Given the description of an element on the screen output the (x, y) to click on. 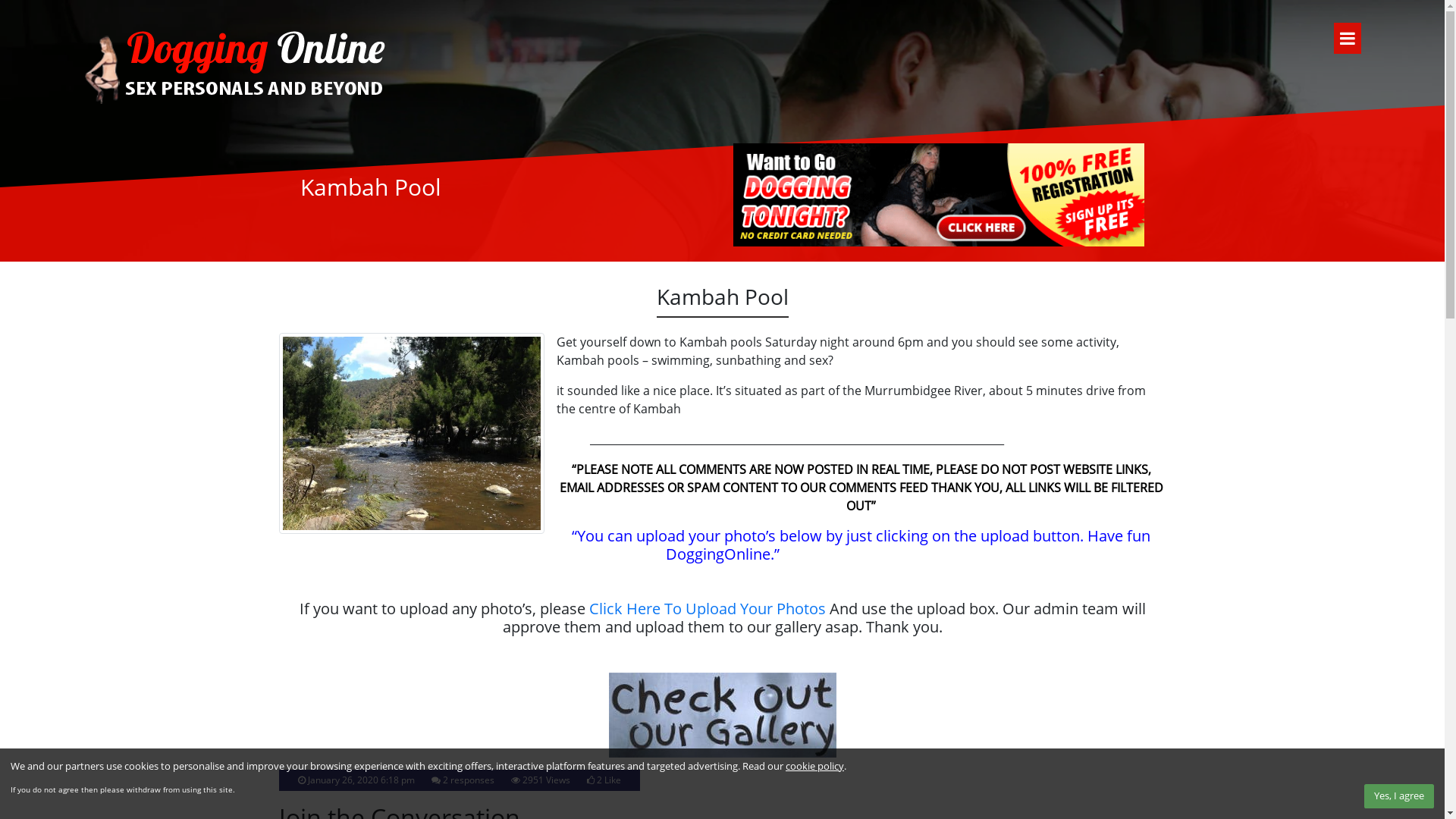
Check Out Our Gallery Element type: hover (721, 714)
cookie policy Element type: text (814, 765)
2 Like Element type: text (608, 779)
Yes, I agree Element type: text (1399, 796)
